Given the description of an element on the screen output the (x, y) to click on. 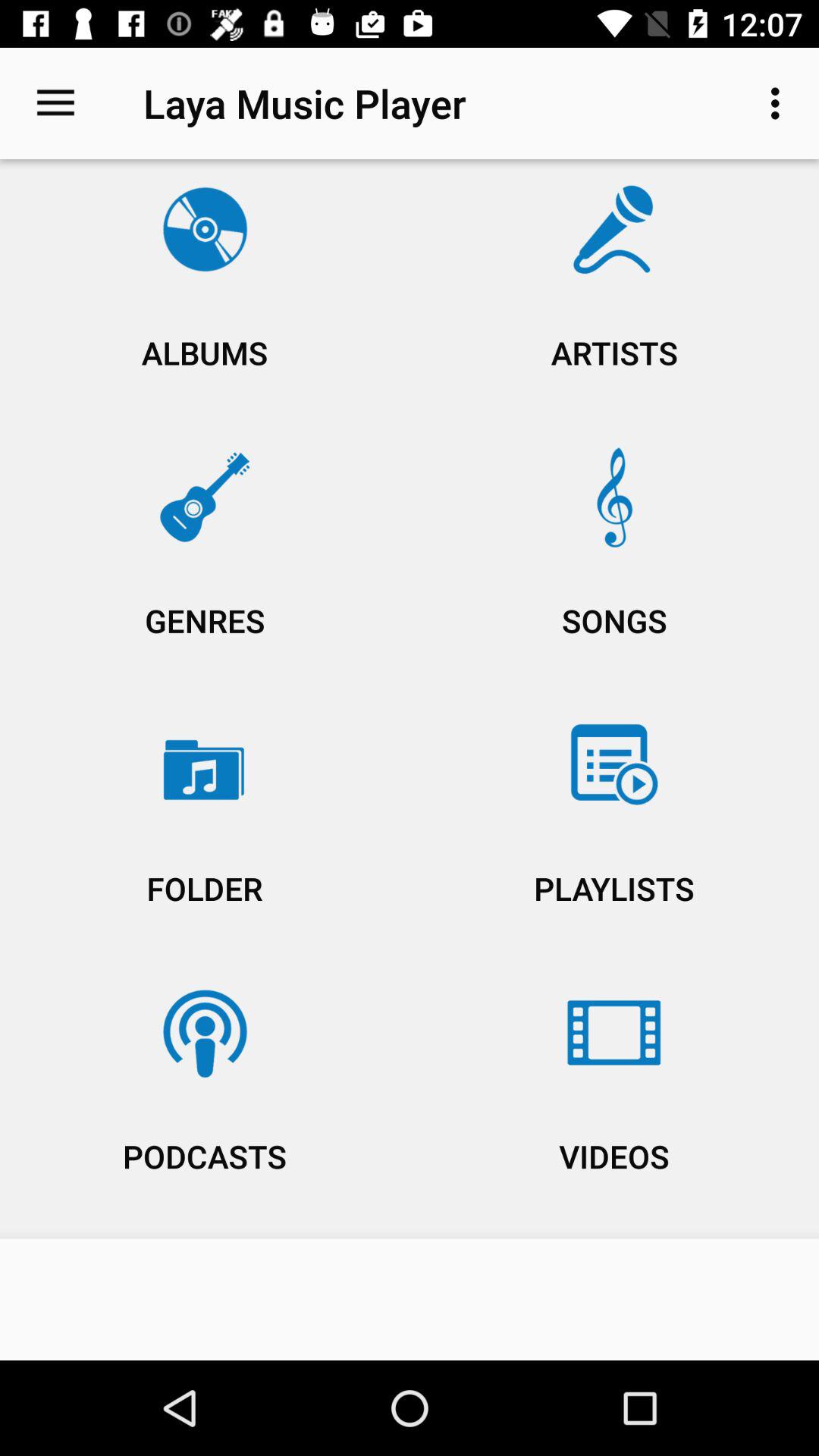
turn on item to the right of genres (614, 832)
